Given the description of an element on the screen output the (x, y) to click on. 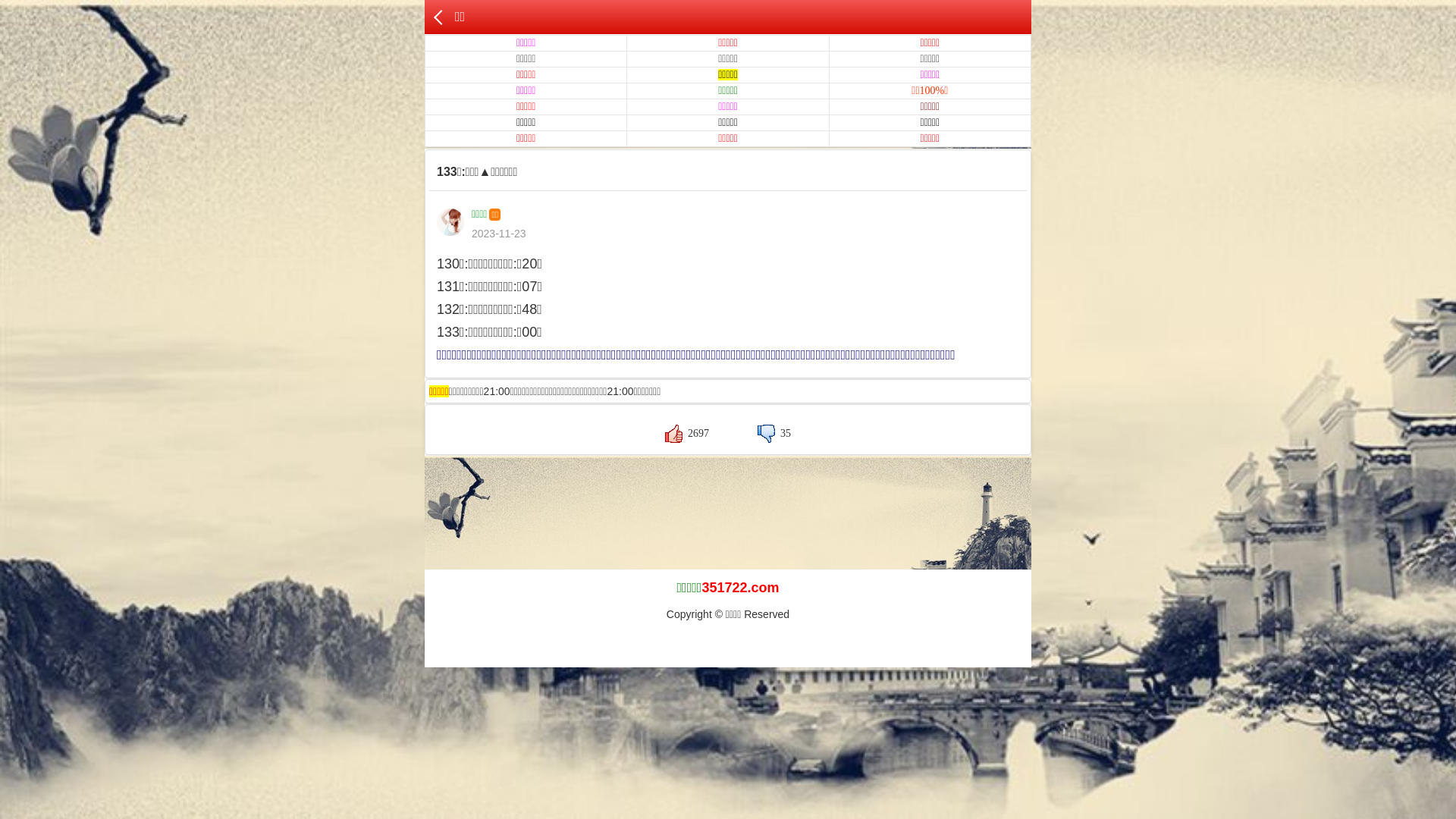
35 Element type: text (773, 432)
2697 Element type: text (687, 432)
